Given the description of an element on the screen output the (x, y) to click on. 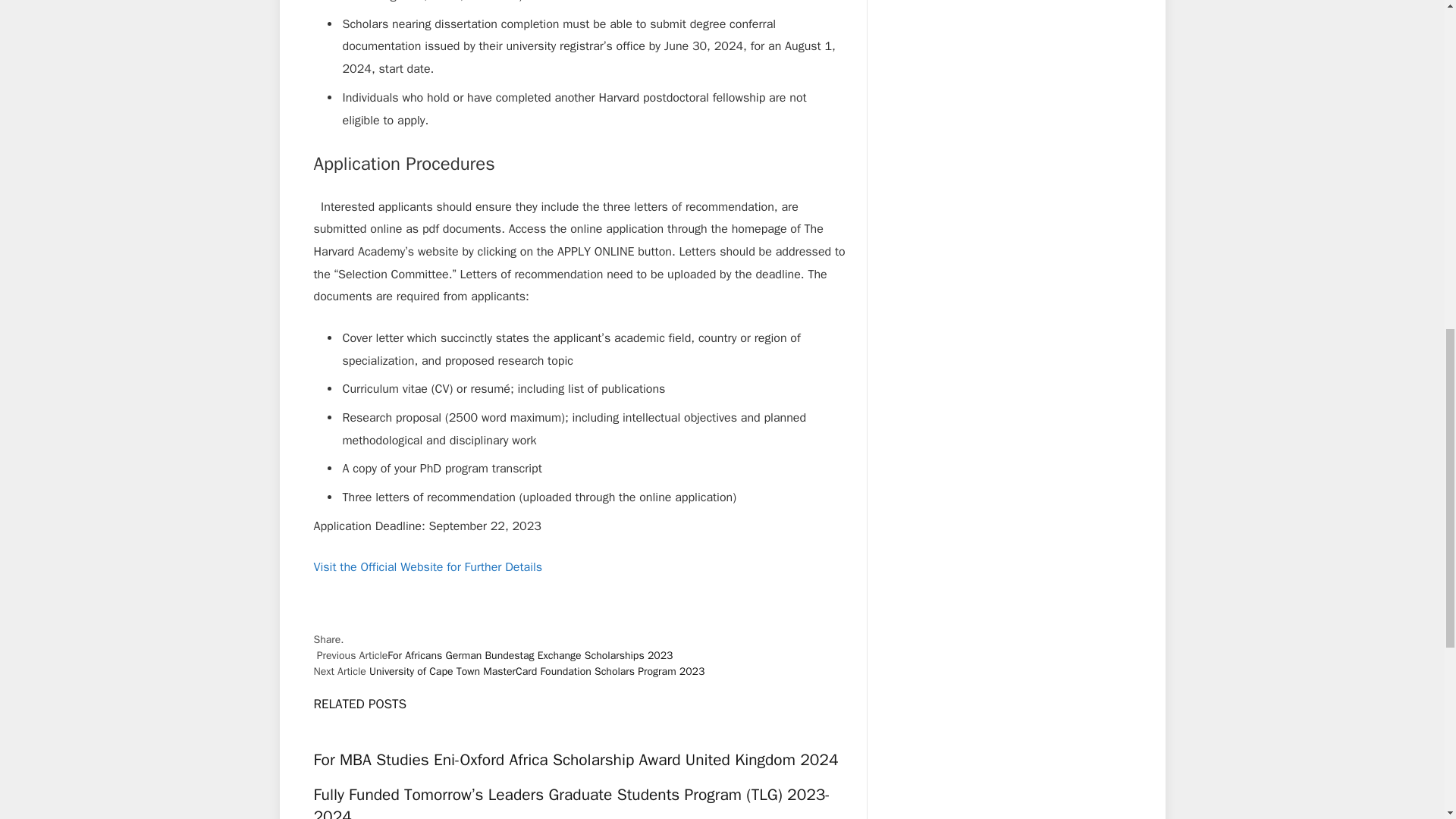
Visit the Official Website for Further Details (428, 566)
For Africans German Bundestag Exchange Scholarships 2023 (529, 655)
